Given the description of an element on the screen output the (x, y) to click on. 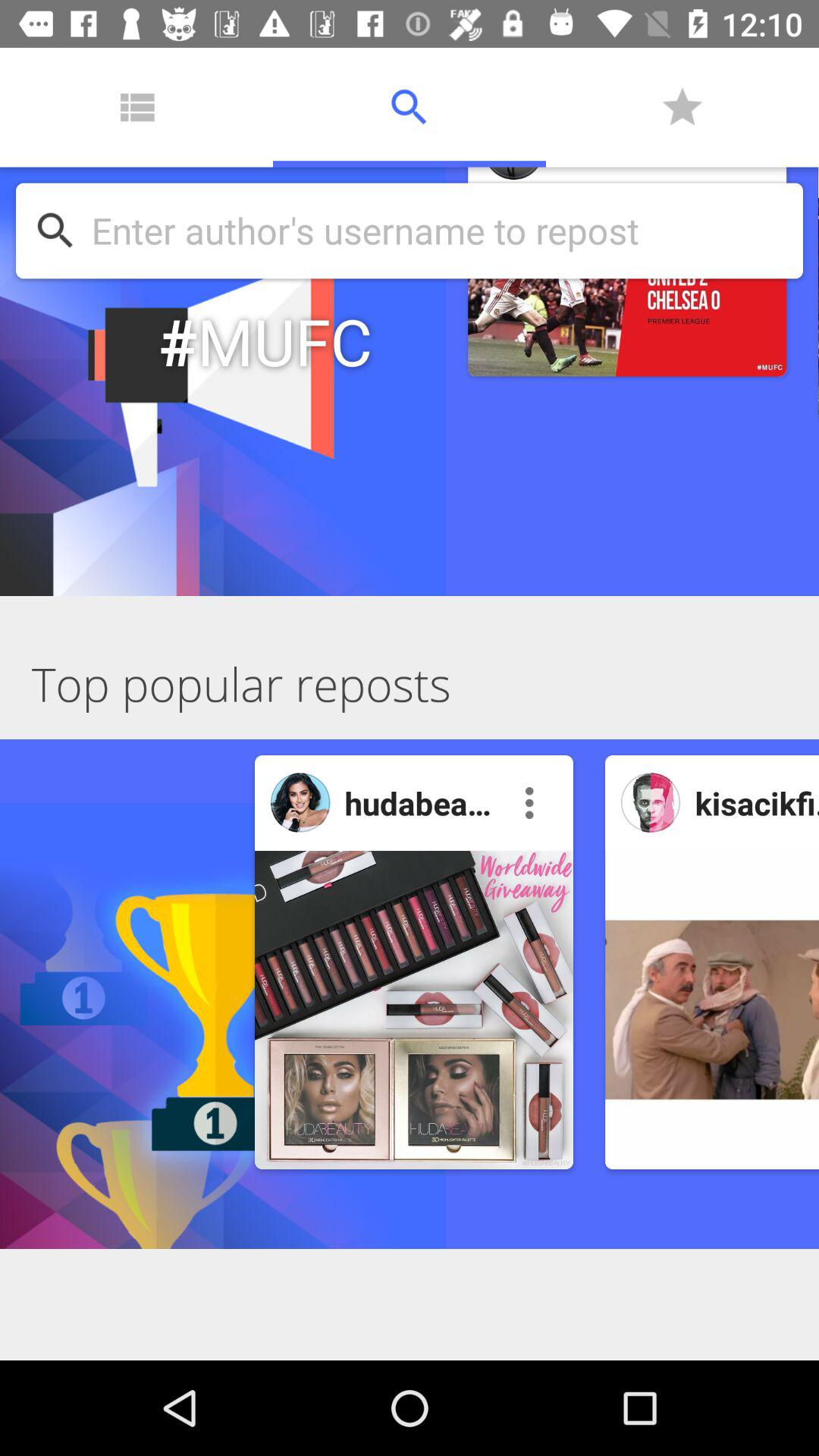
profile picture (650, 802)
